Given the description of an element on the screen output the (x, y) to click on. 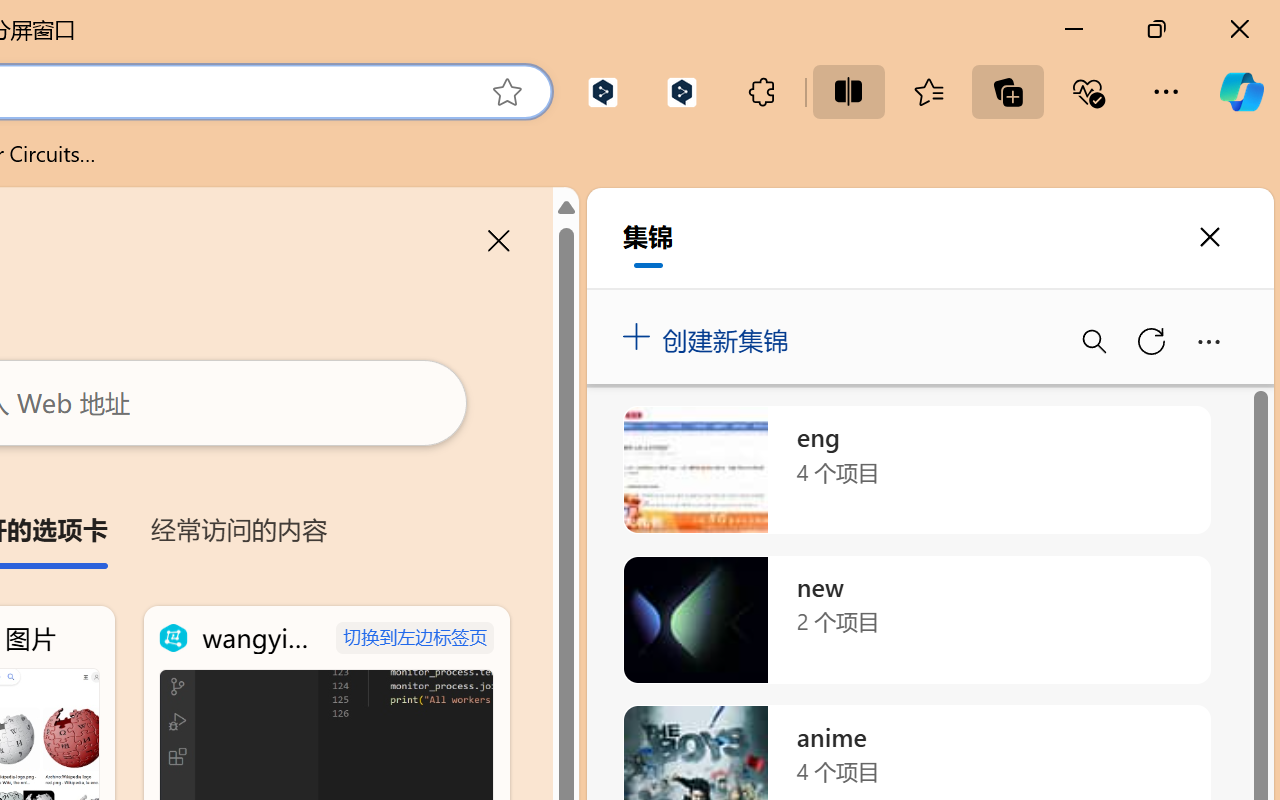
Copilot (Ctrl+Shift+.) (1241, 91)
